Given the description of an element on the screen output the (x, y) to click on. 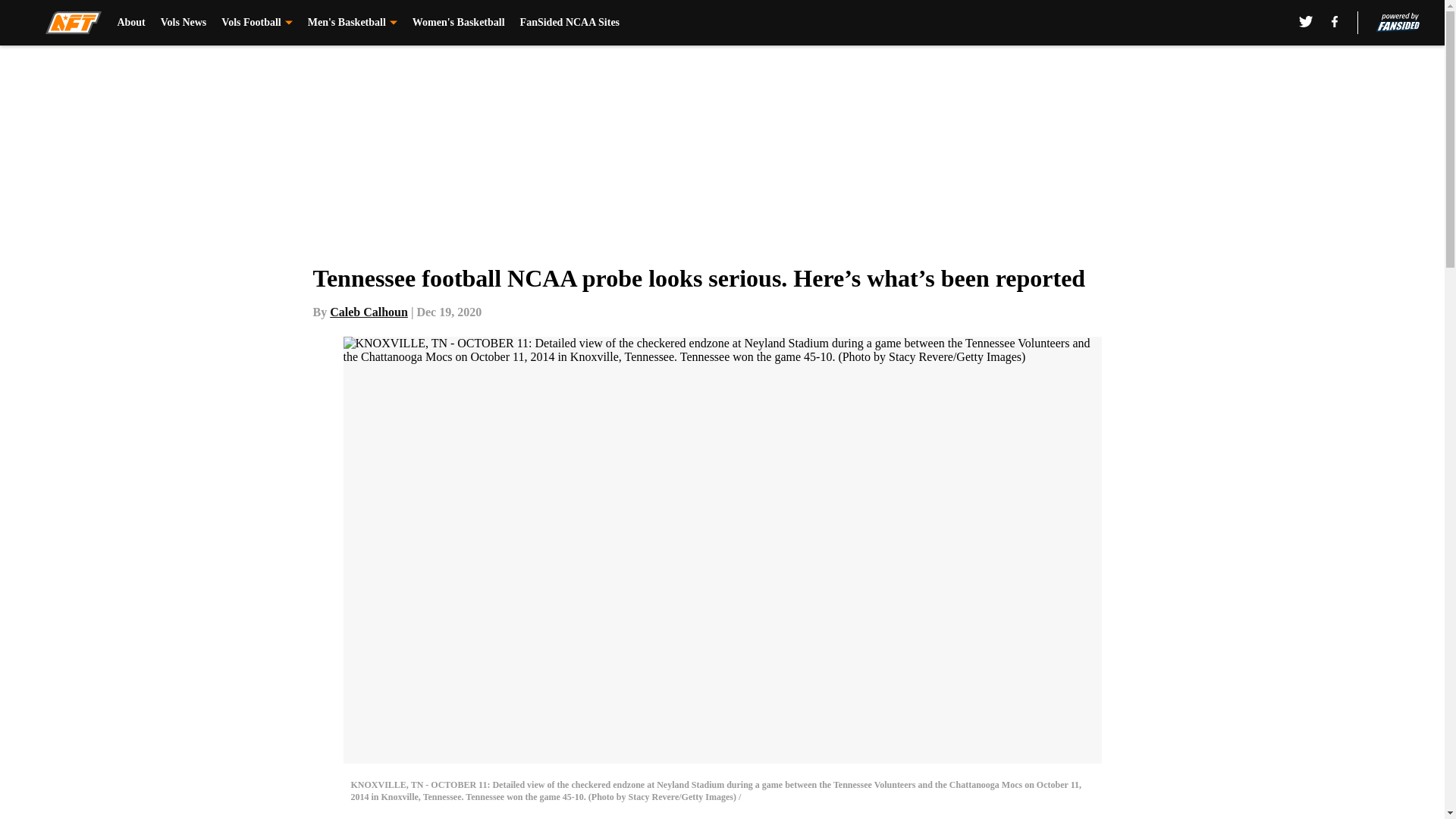
Vols News (183, 22)
About (130, 22)
FanSided NCAA Sites (569, 22)
Caleb Calhoun (368, 311)
Women's Basketball (458, 22)
